Given the description of an element on the screen output the (x, y) to click on. 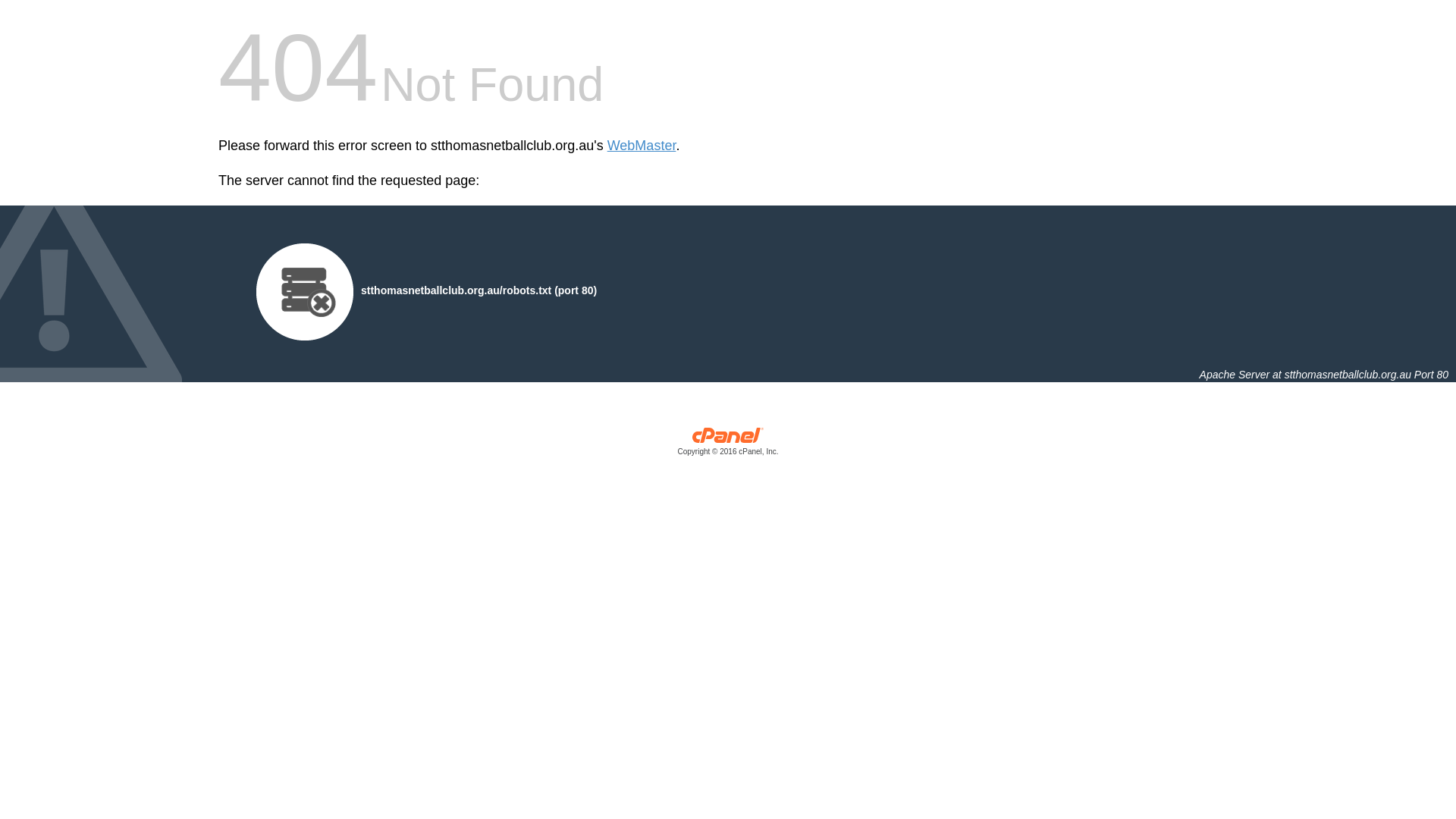
WebMaster Element type: text (641, 145)
